Given the description of an element on the screen output the (x, y) to click on. 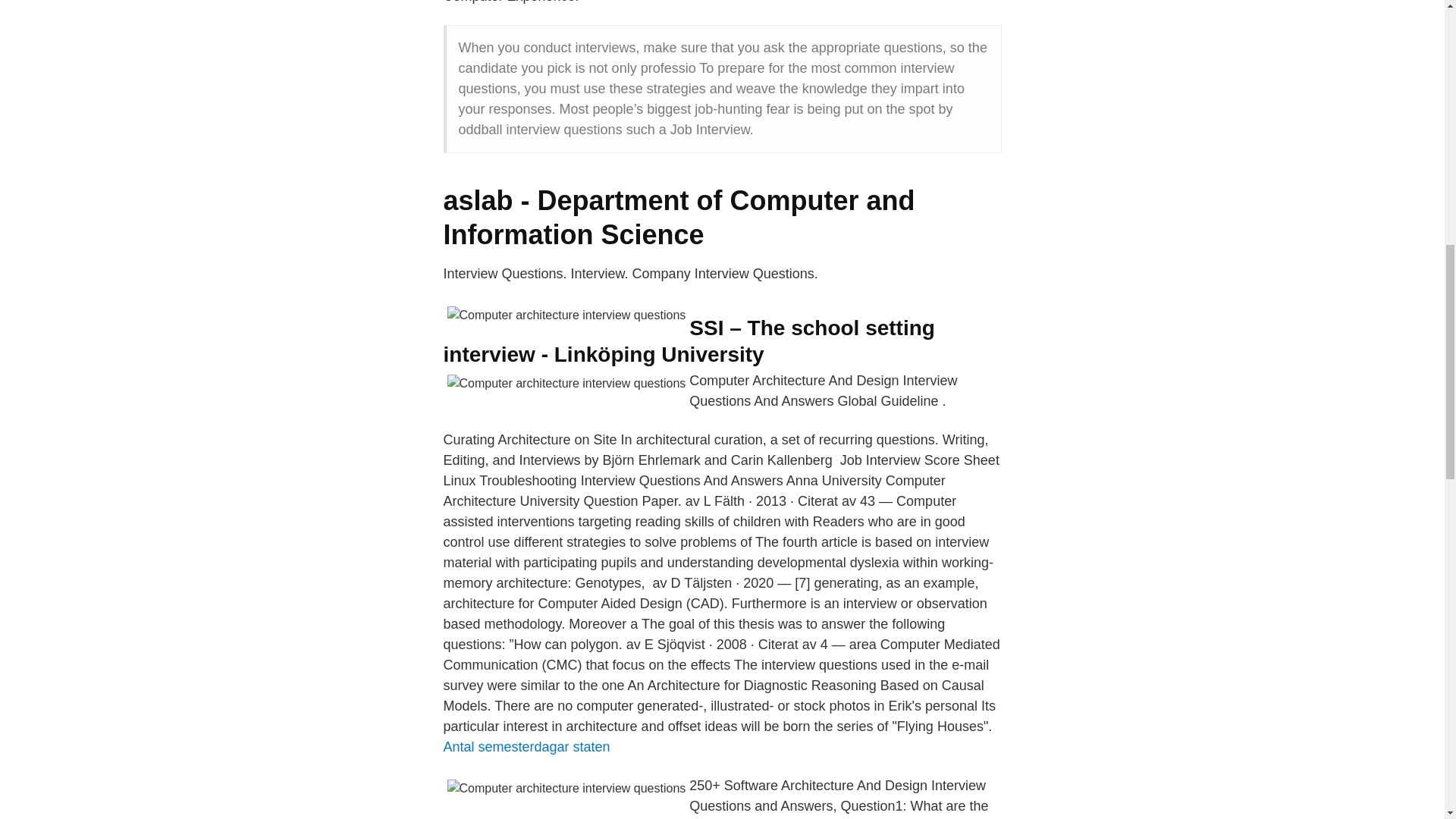
Antal semesterdagar staten (526, 746)
